Given the description of an element on the screen output the (x, y) to click on. 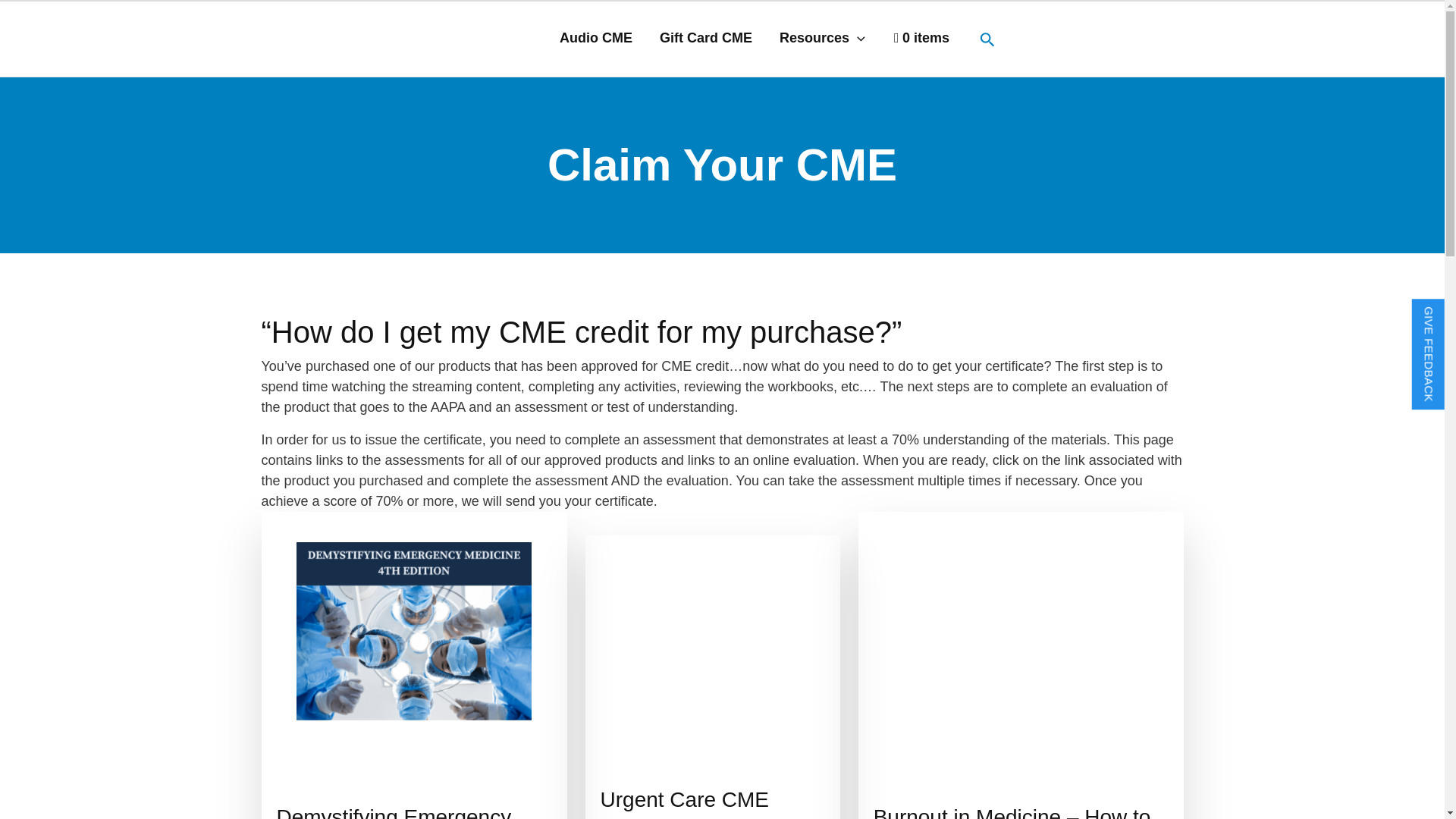
0 items (921, 38)
Start shopping (921, 38)
Audio CME (596, 38)
Lost password (1143, 14)
Gift Card CME (705, 38)
Sign In (1079, 14)
Home (1032, 14)
Resources (822, 38)
